Given the description of an element on the screen output the (x, y) to click on. 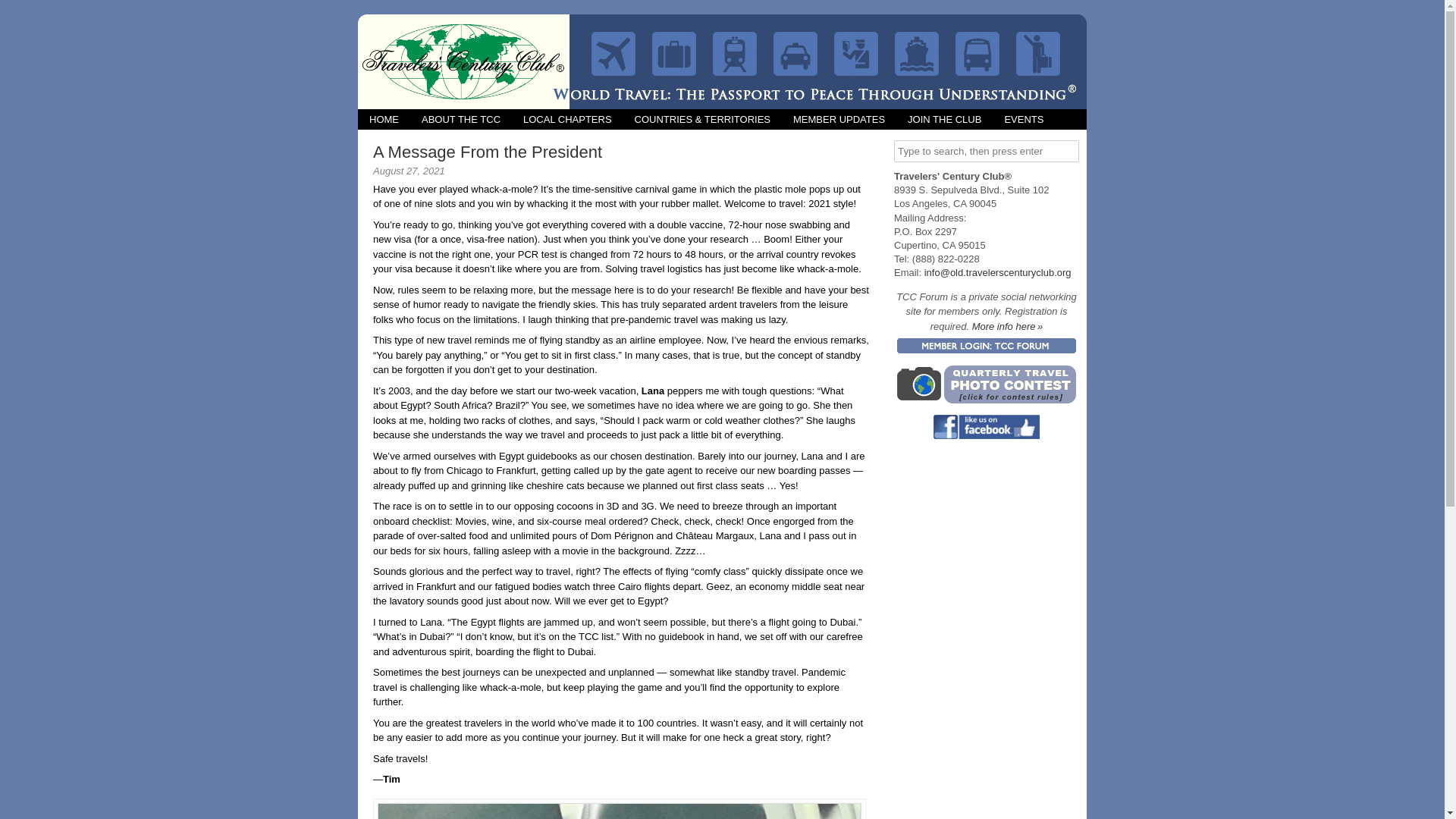
HOME (384, 118)
Type to search, then press enter (985, 151)
ABOUT THE TCC (461, 118)
LOCAL CHAPTERS (567, 118)
